Given the description of an element on the screen output the (x, y) to click on. 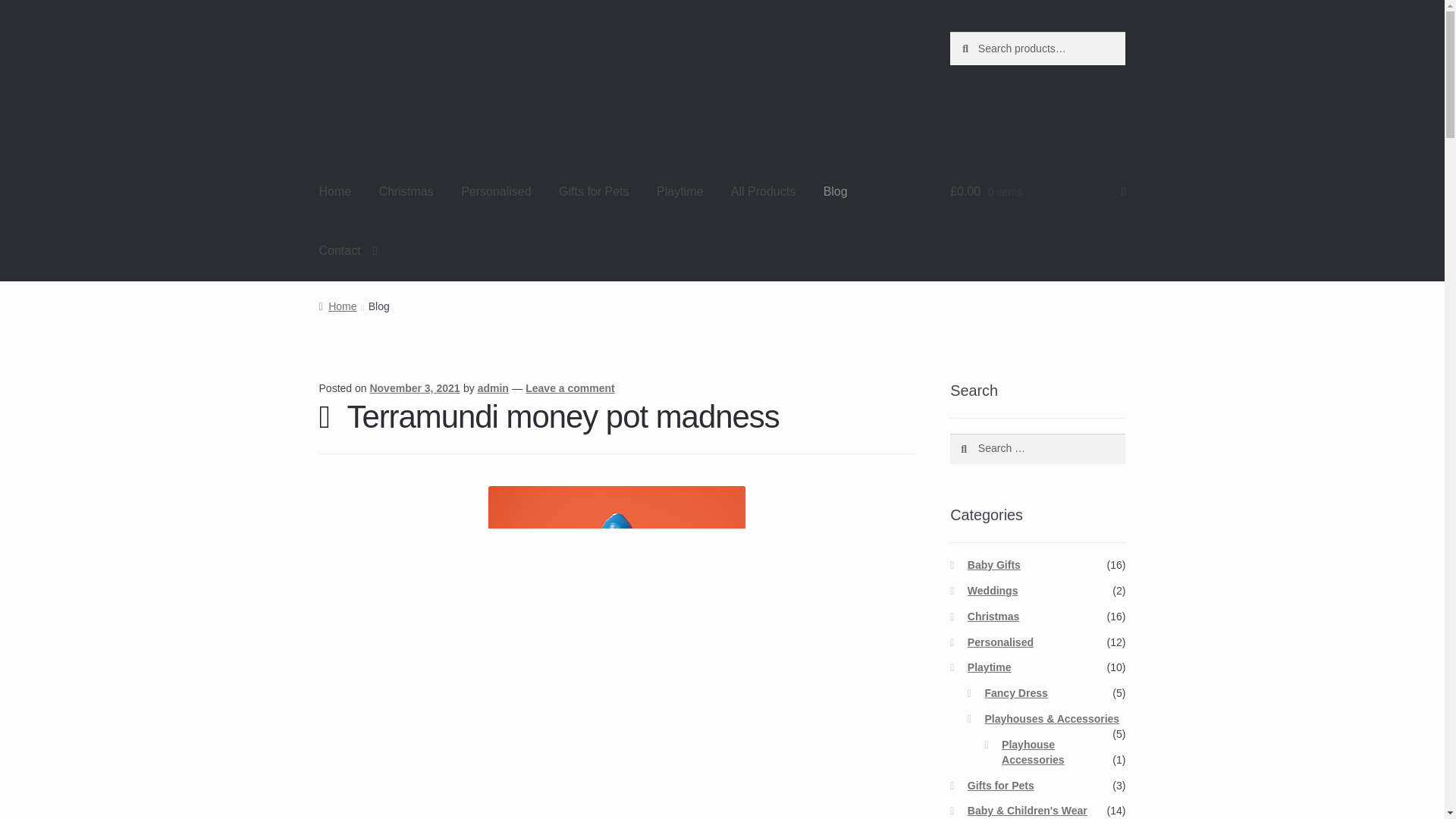
Contact (348, 250)
Terramundi money pot madness (562, 416)
Christmas (405, 191)
Leave a comment (569, 387)
Gifts for Pets (593, 191)
Home (335, 191)
Personalised (495, 191)
All Products (763, 191)
